Given the description of an element on the screen output the (x, y) to click on. 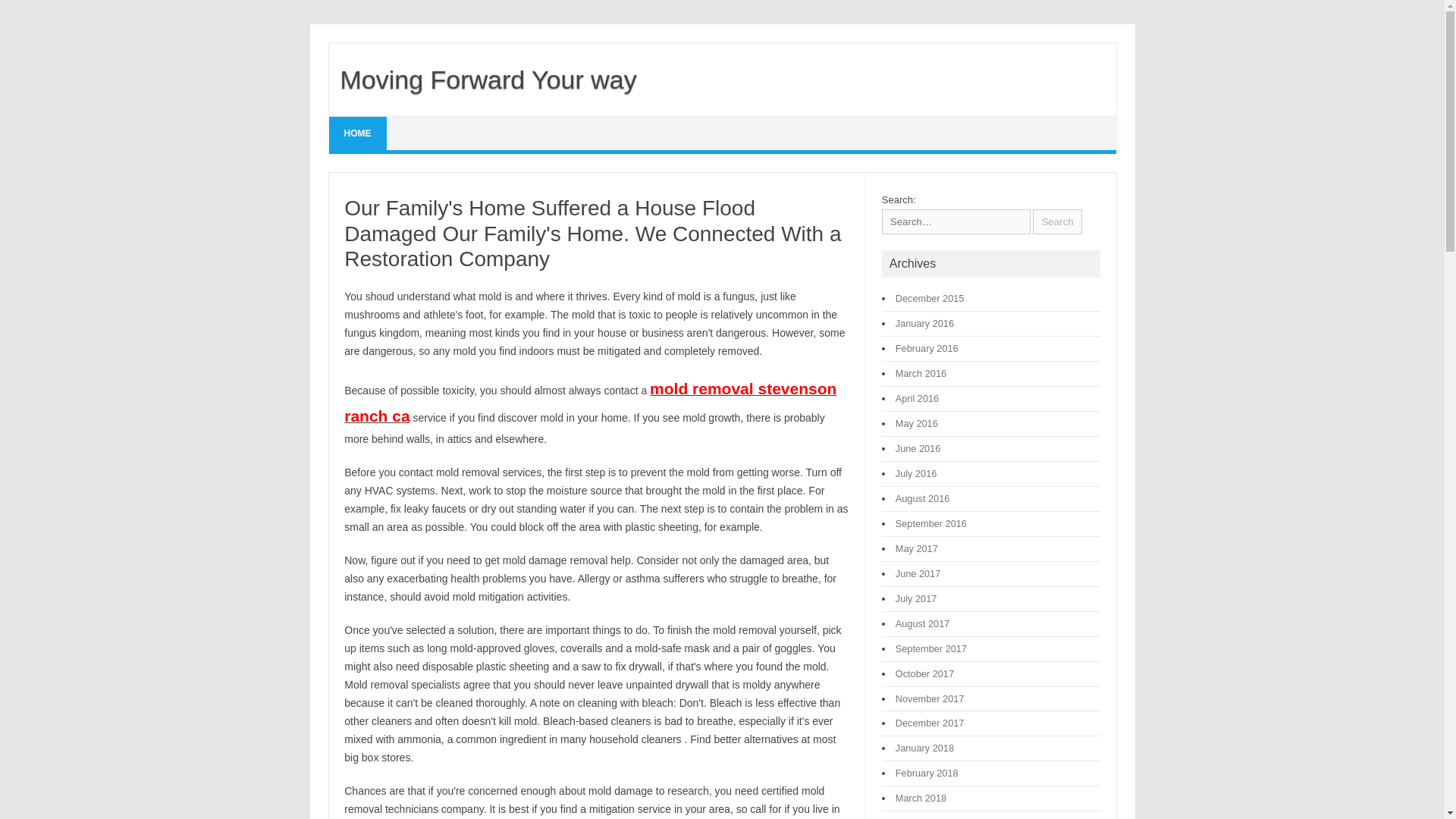
November 2017 (929, 698)
July 2017 (916, 598)
April 2016 (917, 398)
August 2017 (922, 623)
Search (1056, 221)
September 2017 (930, 648)
May 2016 (916, 423)
May 2016 (916, 423)
Moving Forward Your way (483, 79)
April 2016 (917, 398)
